Given the description of an element on the screen output the (x, y) to click on. 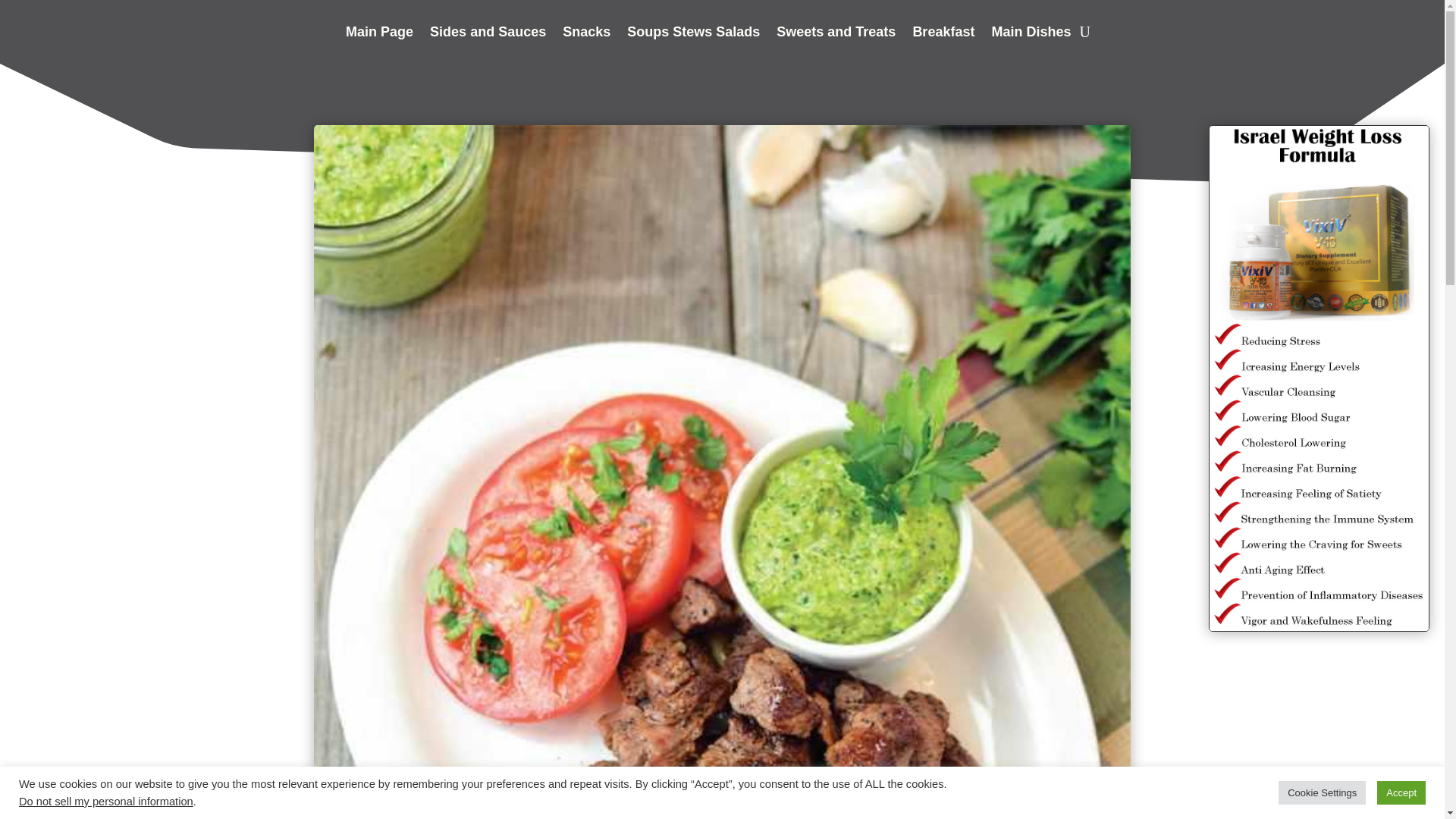
Advertisement (162, 753)
Do not sell my personal information (105, 801)
Main Page (379, 34)
Main Dishes (1030, 34)
Sides and Sauces (487, 34)
Cookie Settings (1321, 792)
Accept (1401, 792)
Sweets and Treats (835, 34)
Snacks (586, 34)
Breakfast (943, 34)
Soups Stews Salads (693, 34)
